Given the description of an element on the screen output the (x, y) to click on. 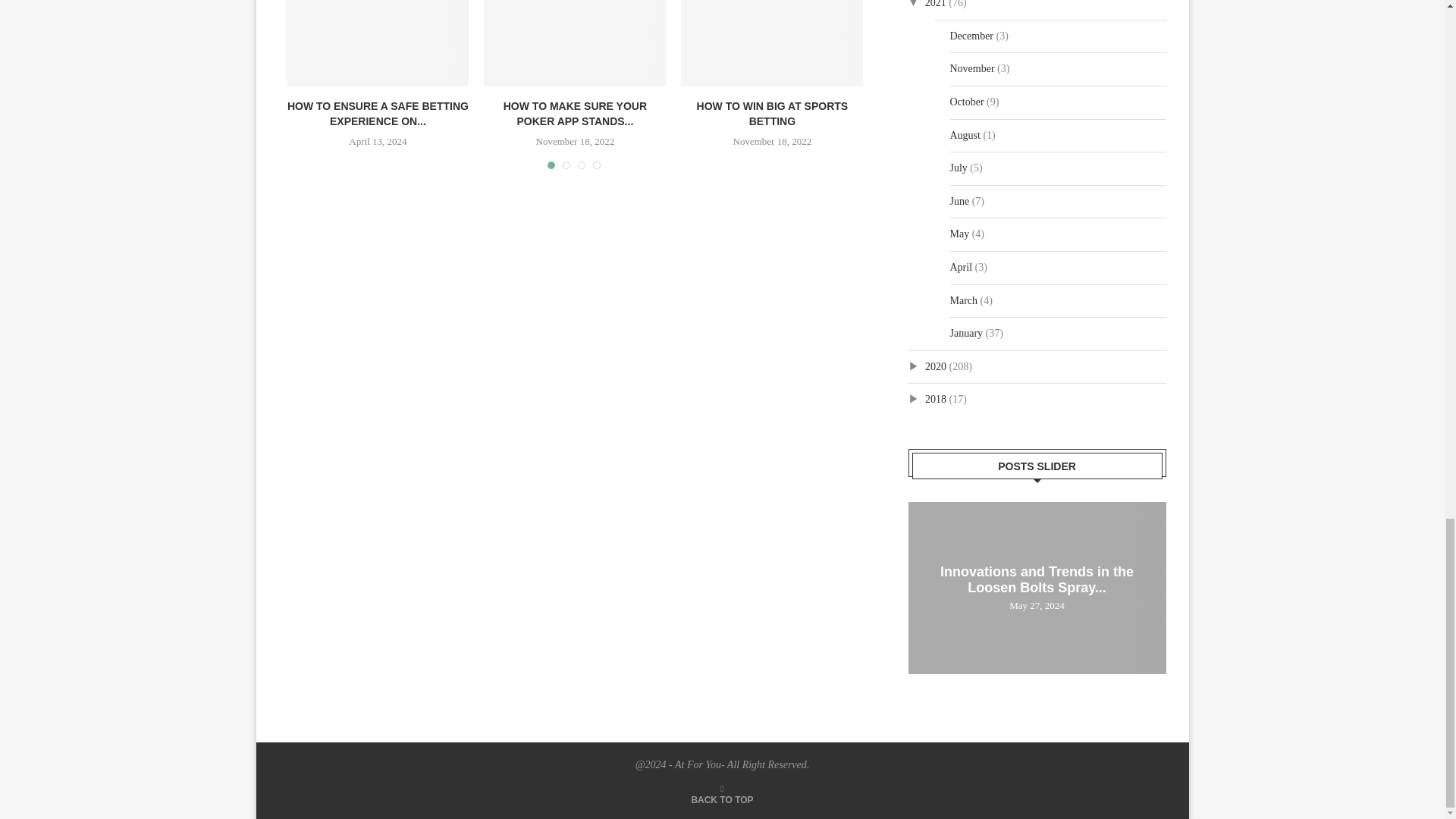
How to Ensure a Safe Betting Experience on Reddy Anna Book (377, 43)
How to make sure your poker app stands out (574, 43)
How to win big at sports betting (772, 43)
